Given the description of an element on the screen output the (x, y) to click on. 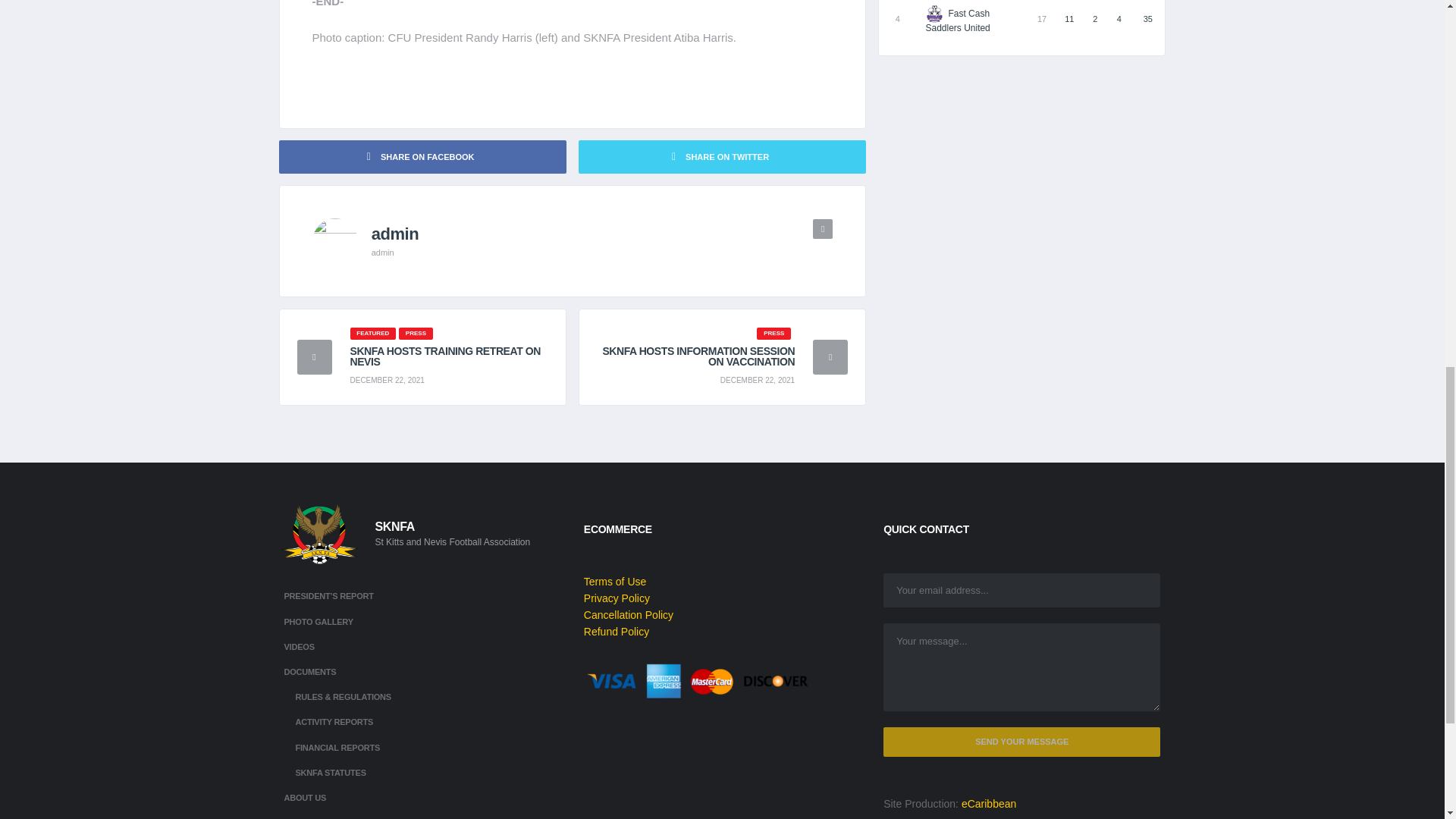
Send Your Message (1021, 741)
